Given the description of an element on the screen output the (x, y) to click on. 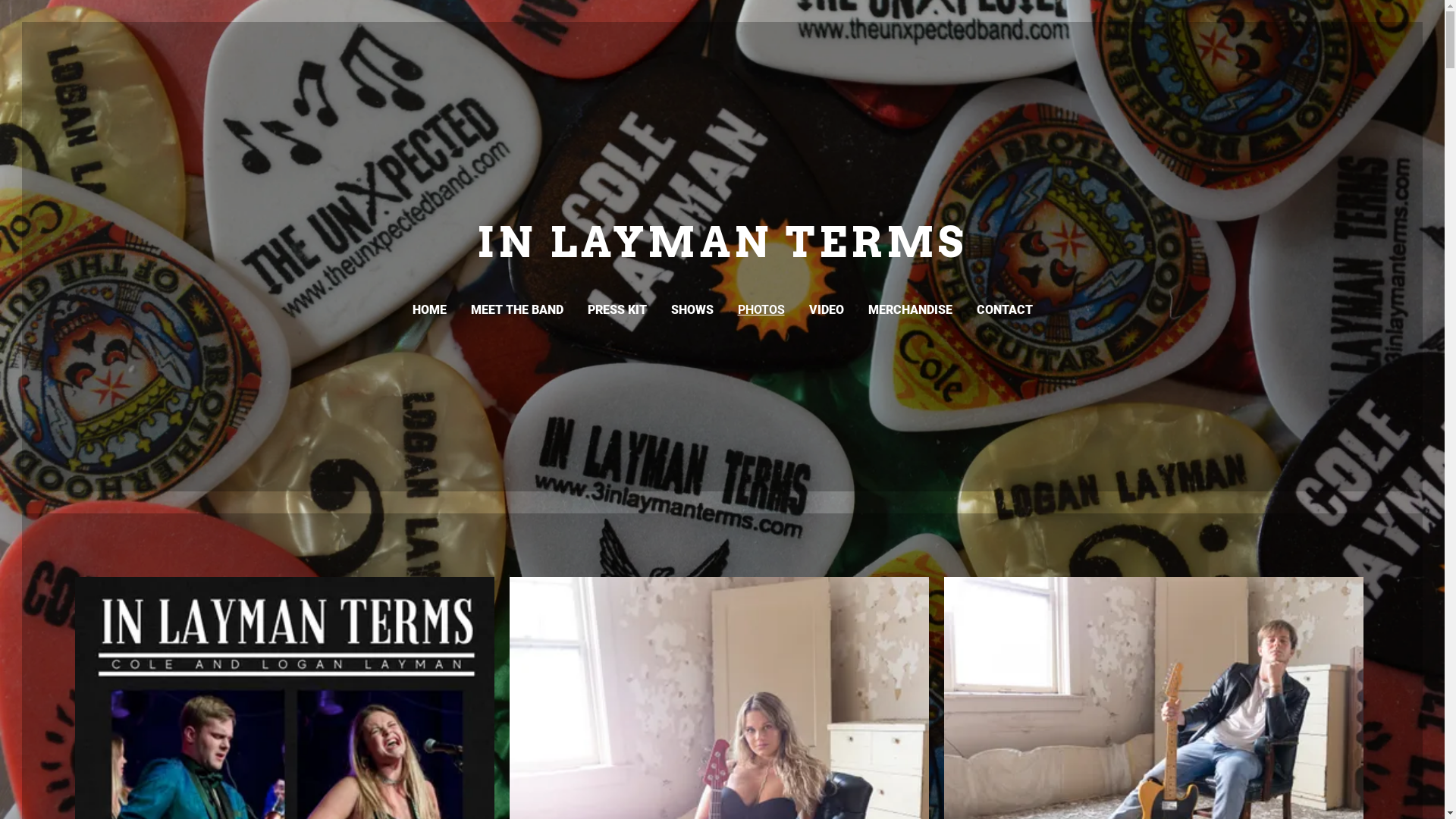
SHOWS Element type: text (691, 310)
PRESS KIT Element type: text (616, 310)
IN LAYMAN TERMS Element type: text (721, 250)
PHOTOS Element type: text (760, 310)
HOME Element type: text (429, 310)
MERCHANDISE Element type: text (909, 310)
VIDEO Element type: text (825, 310)
CONTACT Element type: text (1004, 310)
MEET THE BAND Element type: text (516, 310)
